Given the description of an element on the screen output the (x, y) to click on. 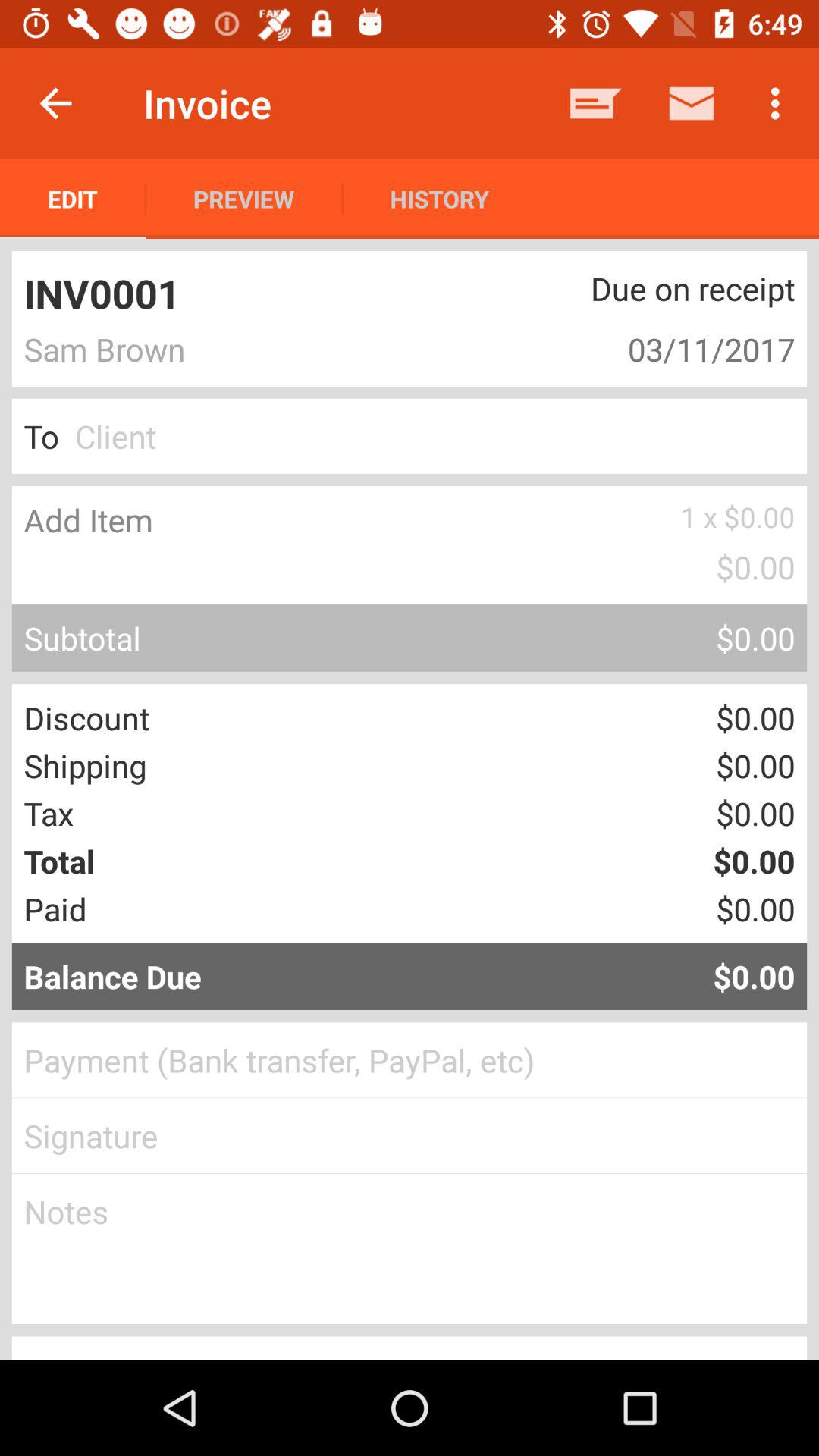
choose history item (439, 198)
